Given the description of an element on the screen output the (x, y) to click on. 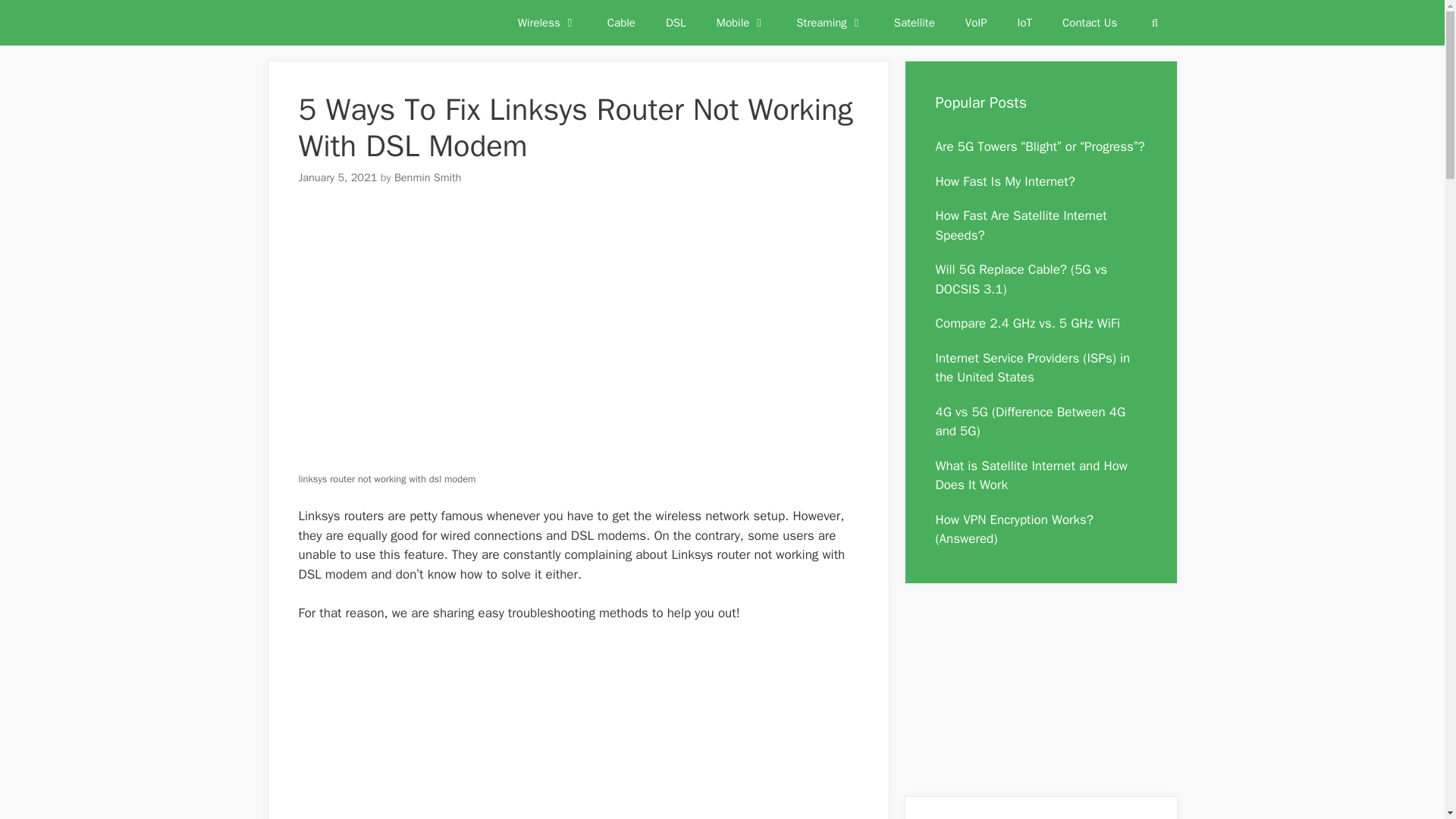
IoT (1024, 22)
Satellite (914, 22)
DSL (675, 22)
View all posts by Benmin Smith (427, 177)
Internet Access Guide (335, 22)
Search (1154, 22)
VoIP (976, 22)
Internet Access Guide (331, 22)
5:52 am (337, 177)
January 5, 2021 (337, 177)
